Given the description of an element on the screen output the (x, y) to click on. 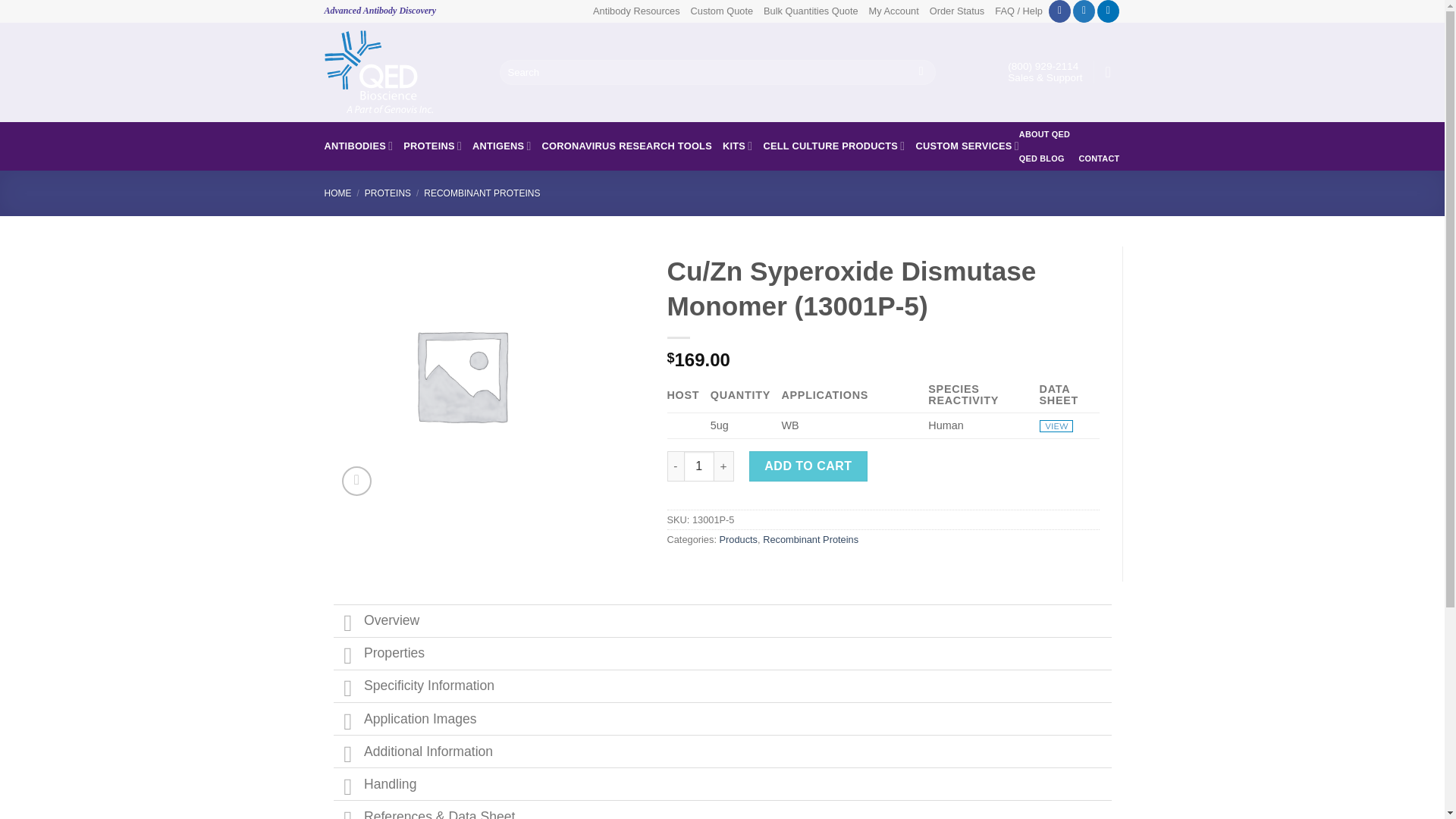
Follow on Twitter (1083, 11)
1 (699, 466)
Custom Quote (722, 10)
Order Status (957, 10)
ANTIBODIES (358, 145)
Follow on LinkedIn (1108, 11)
My Account (893, 10)
Antibody Resources (635, 10)
Search (920, 72)
Follow on Facebook (1059, 11)
